Given the description of an element on the screen output the (x, y) to click on. 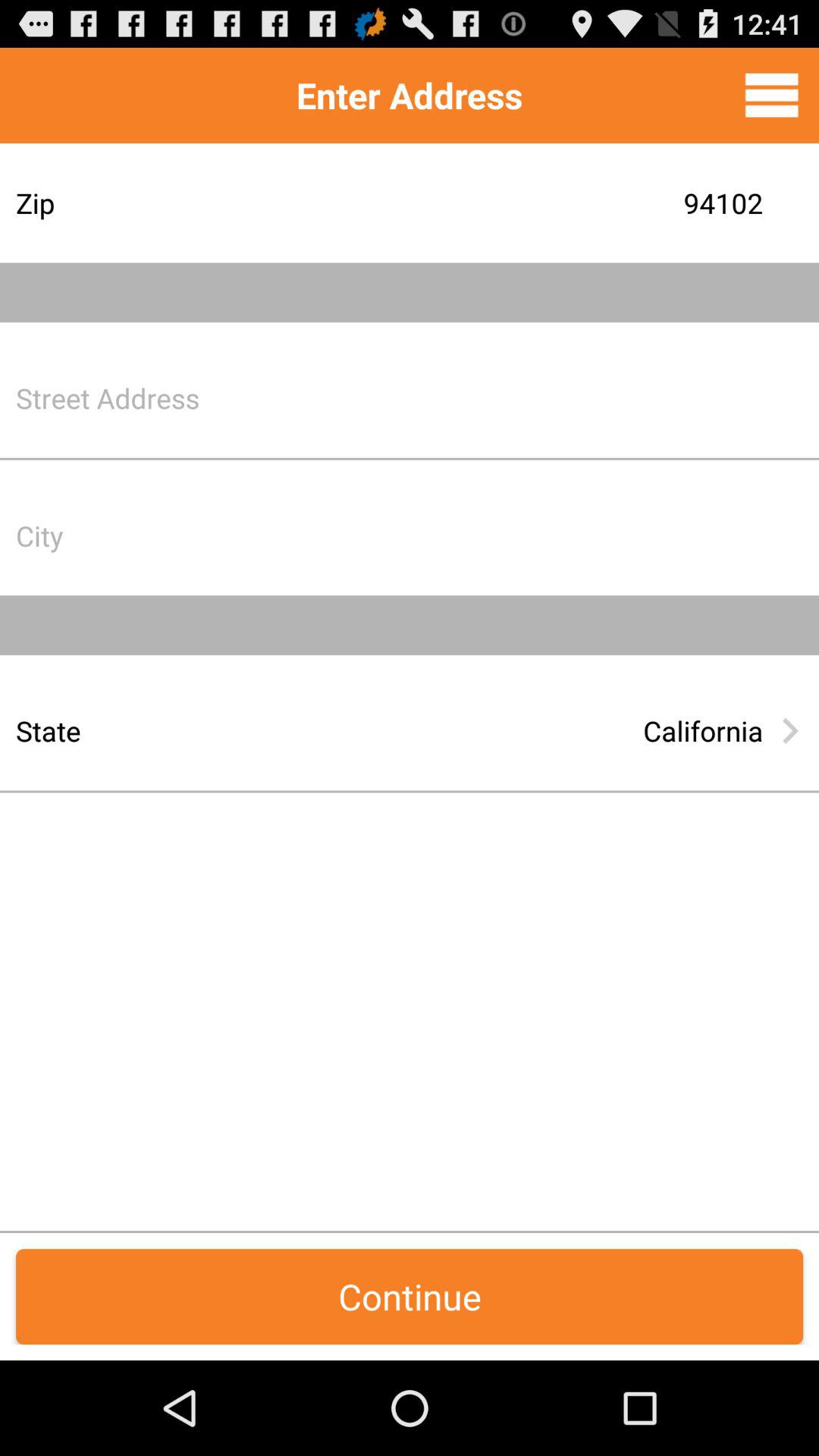
toggle to more options click to more options (771, 95)
